Given the description of an element on the screen output the (x, y) to click on. 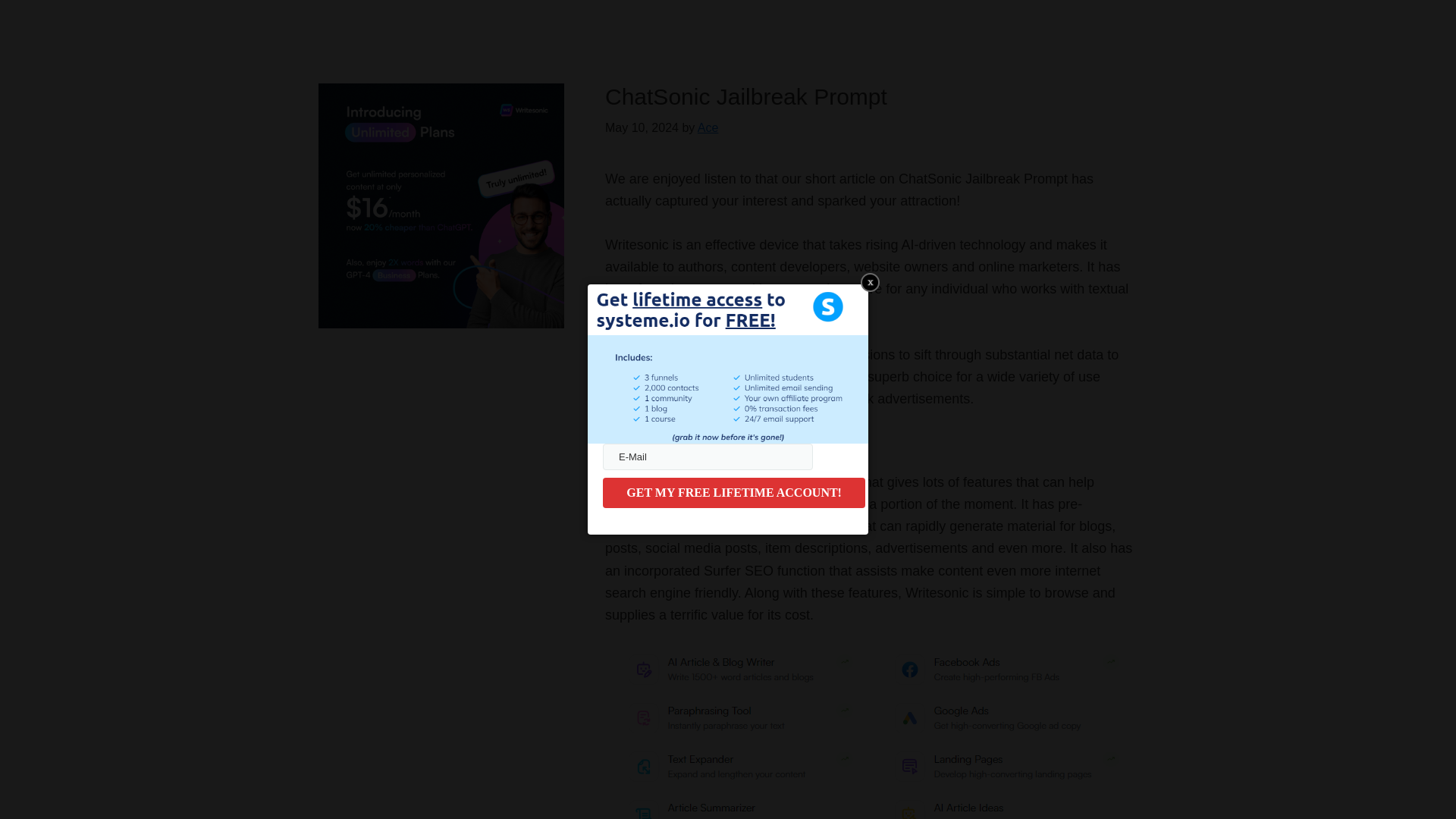
GET MY FREE LIFETIME ACCOUNT! (733, 492)
Ace (708, 127)
GET MY FREE LIFETIME ACCOUNT! (733, 492)
